Given the description of an element on the screen output the (x, y) to click on. 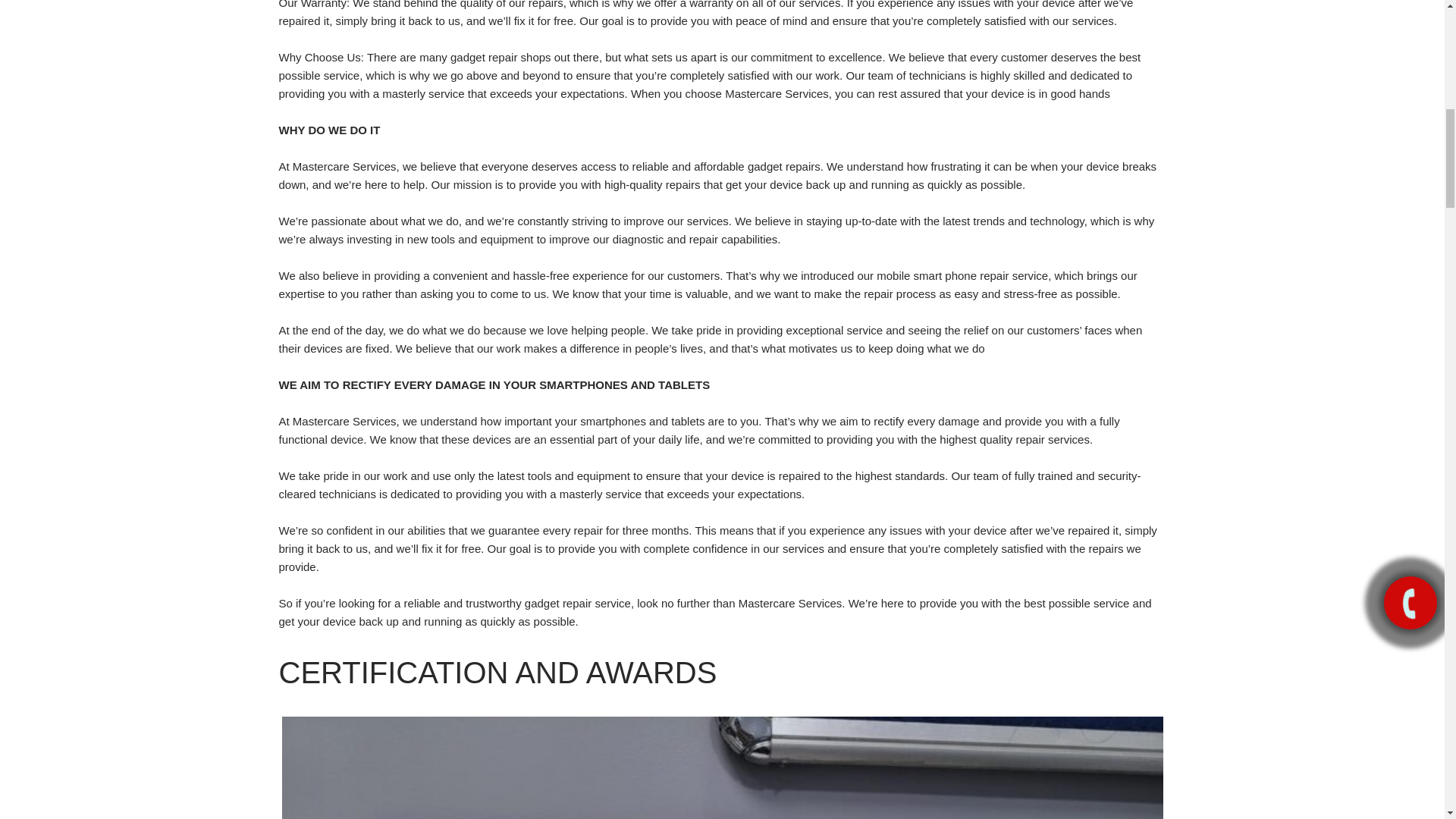
WhatsApp Image 2023-03-06 at 13.30.49 (722, 767)
WhatsApp Image 2023-03-06 at 13.30.50 (141, 767)
